Given the description of an element on the screen output the (x, y) to click on. 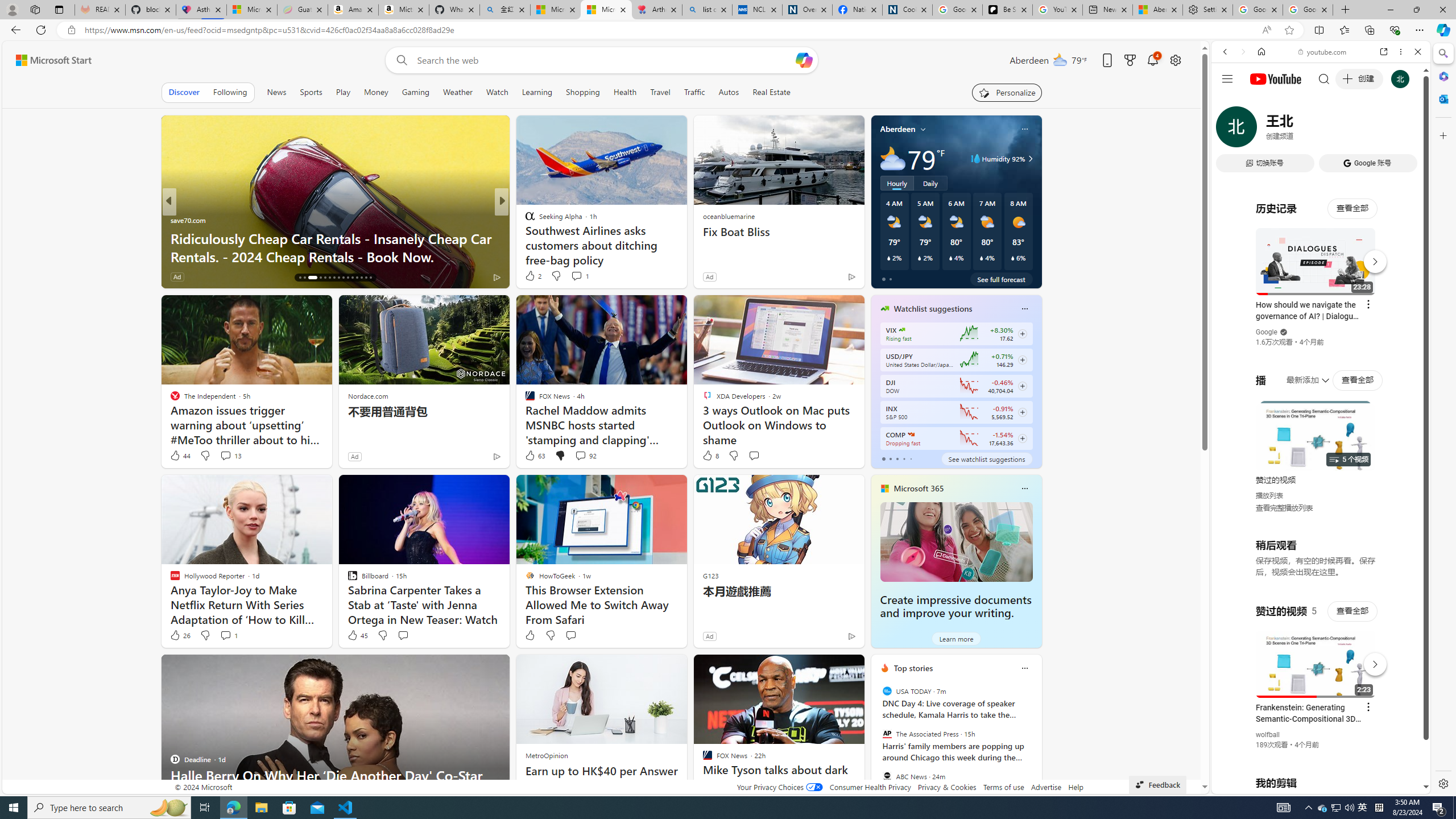
Learn more (956, 638)
View comments 92 Comment (585, 455)
News (277, 92)
Microsoft rewards (1129, 60)
AutomationID: tab-23 (338, 277)
US[ju] (1249, 785)
View comments 20 Comment (585, 276)
View comments 92 Comment (580, 455)
Class: follow-button  m (1021, 438)
Search Filter, Search Tools (1350, 129)
Click to scroll right (1407, 456)
Watch (496, 92)
